Given the description of an element on the screen output the (x, y) to click on. 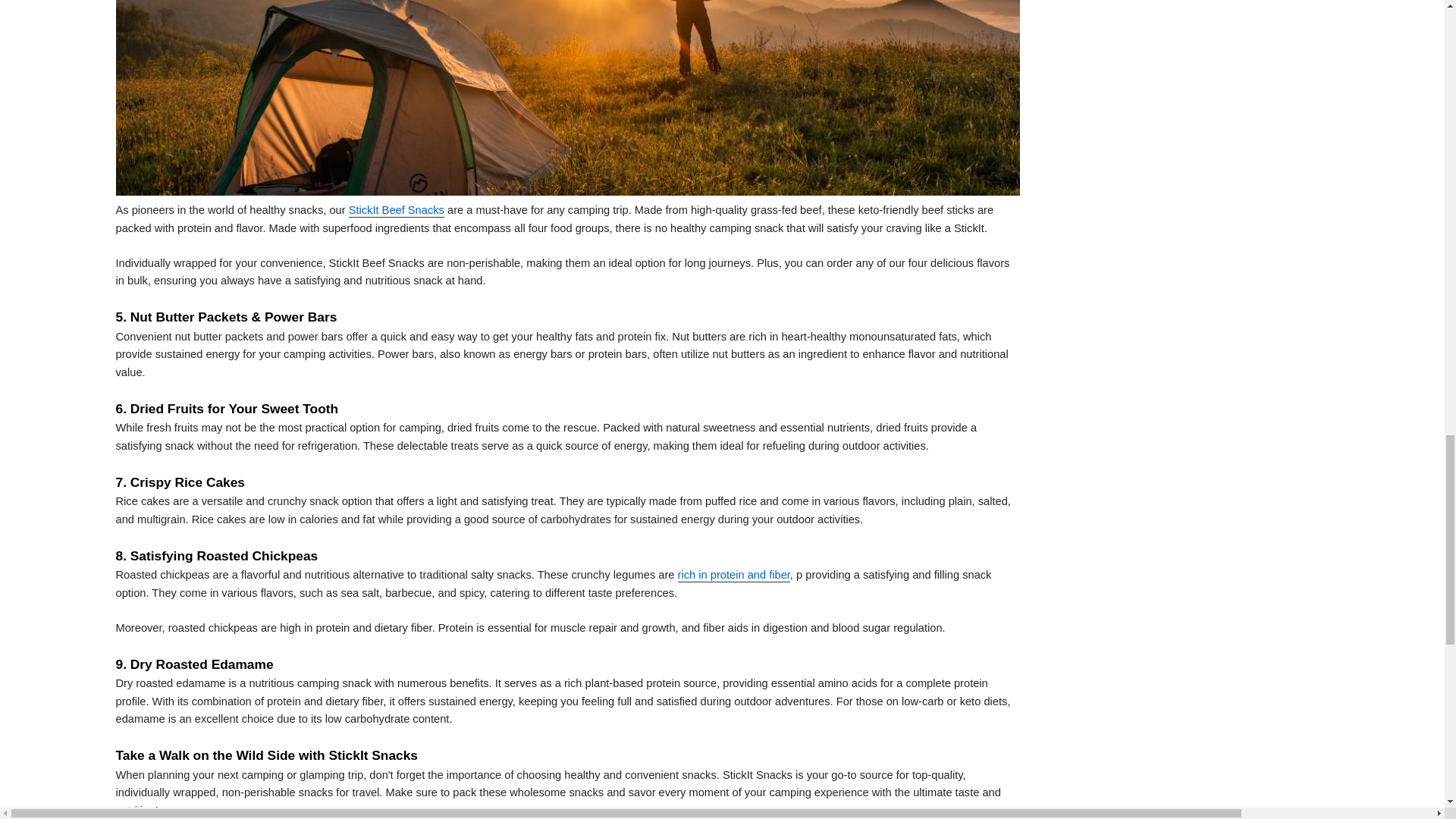
StickIt Snacks - Shop All Beef Sticks (396, 211)
StickIt Beef Snacks (396, 211)
rich in protein and fiber (734, 575)
Health Line - Chickpea Nutrition (734, 575)
